Given the description of an element on the screen output the (x, y) to click on. 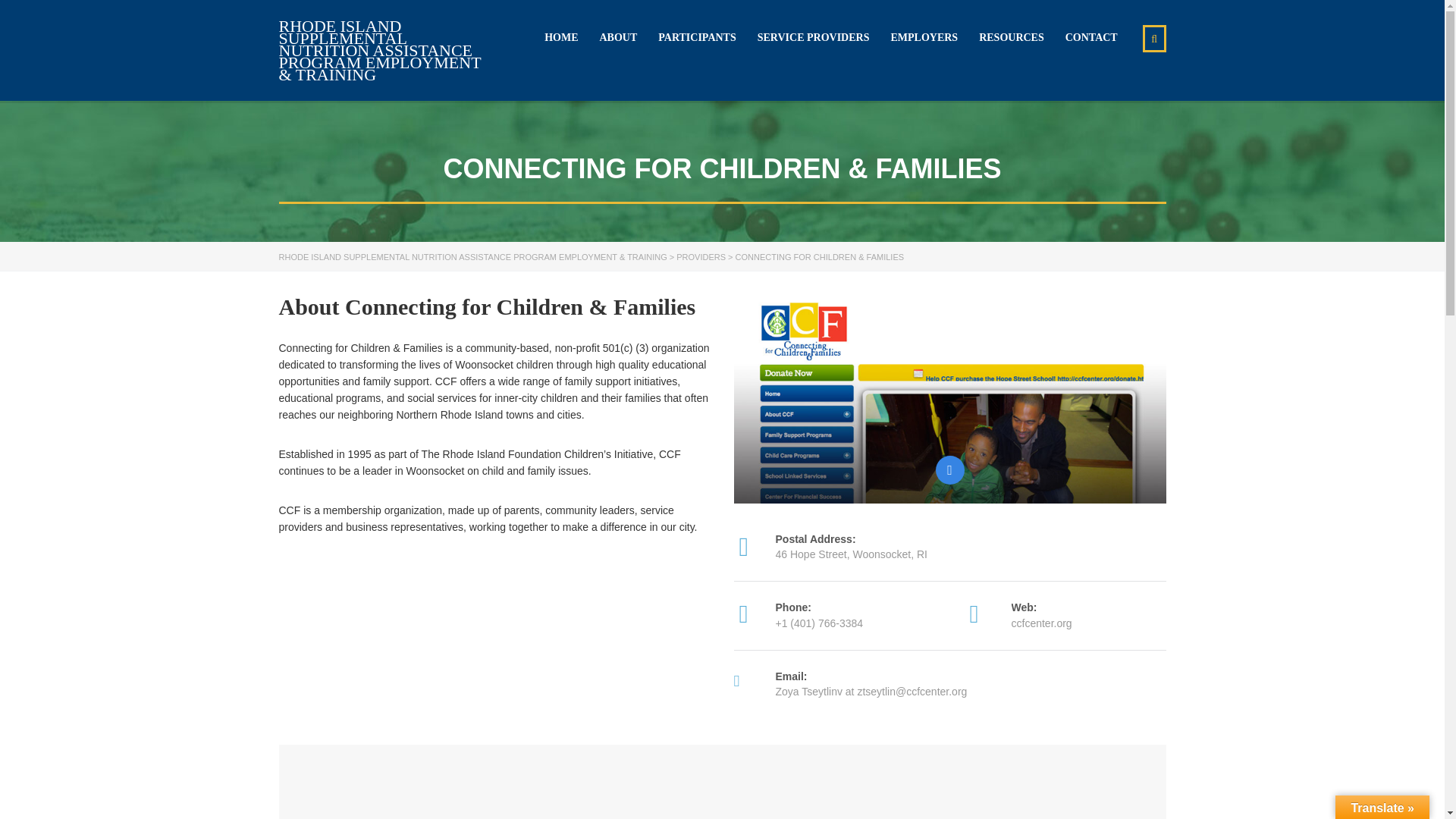
SERVICE PROVIDERS (813, 37)
PARTICIPANTS (696, 37)
Go to Providers. (701, 256)
View expert on facebook (949, 469)
EMPLOYERS (923, 37)
ABOUT (617, 37)
HOME (561, 37)
